Given the description of an element on the screen output the (x, y) to click on. 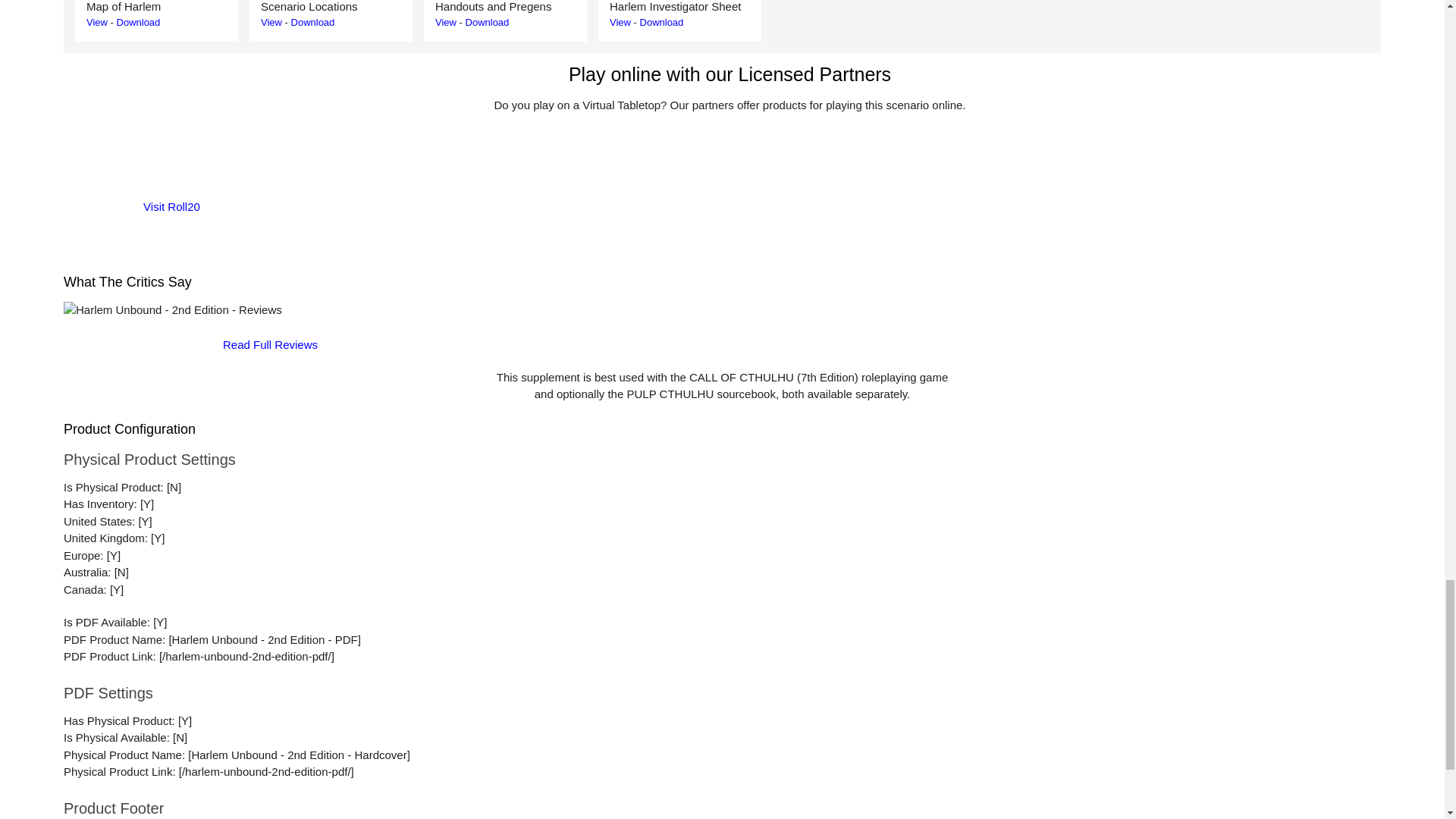
Map of Harlem (138, 21)
Scenario Maps (271, 21)
Map of Harlem (96, 21)
Scenario Maps (312, 21)
Harlem Unbound - Handouts (446, 21)
